Given the description of an element on the screen output the (x, y) to click on. 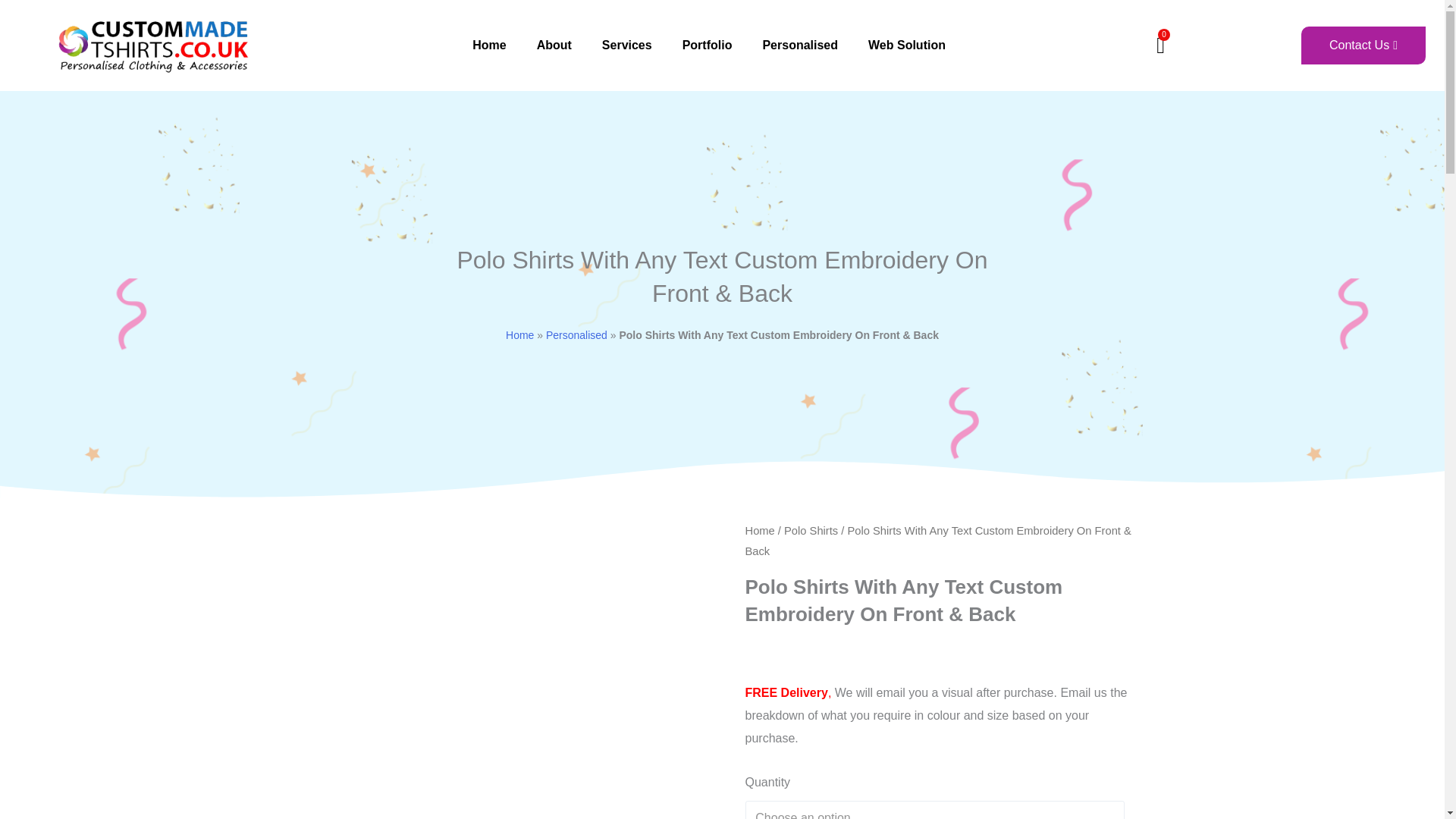
Home (489, 45)
Web Solution (906, 45)
Personalised (799, 45)
Portfolio (707, 45)
Services (626, 45)
About (553, 45)
logo transparent (153, 44)
